Given the description of an element on the screen output the (x, y) to click on. 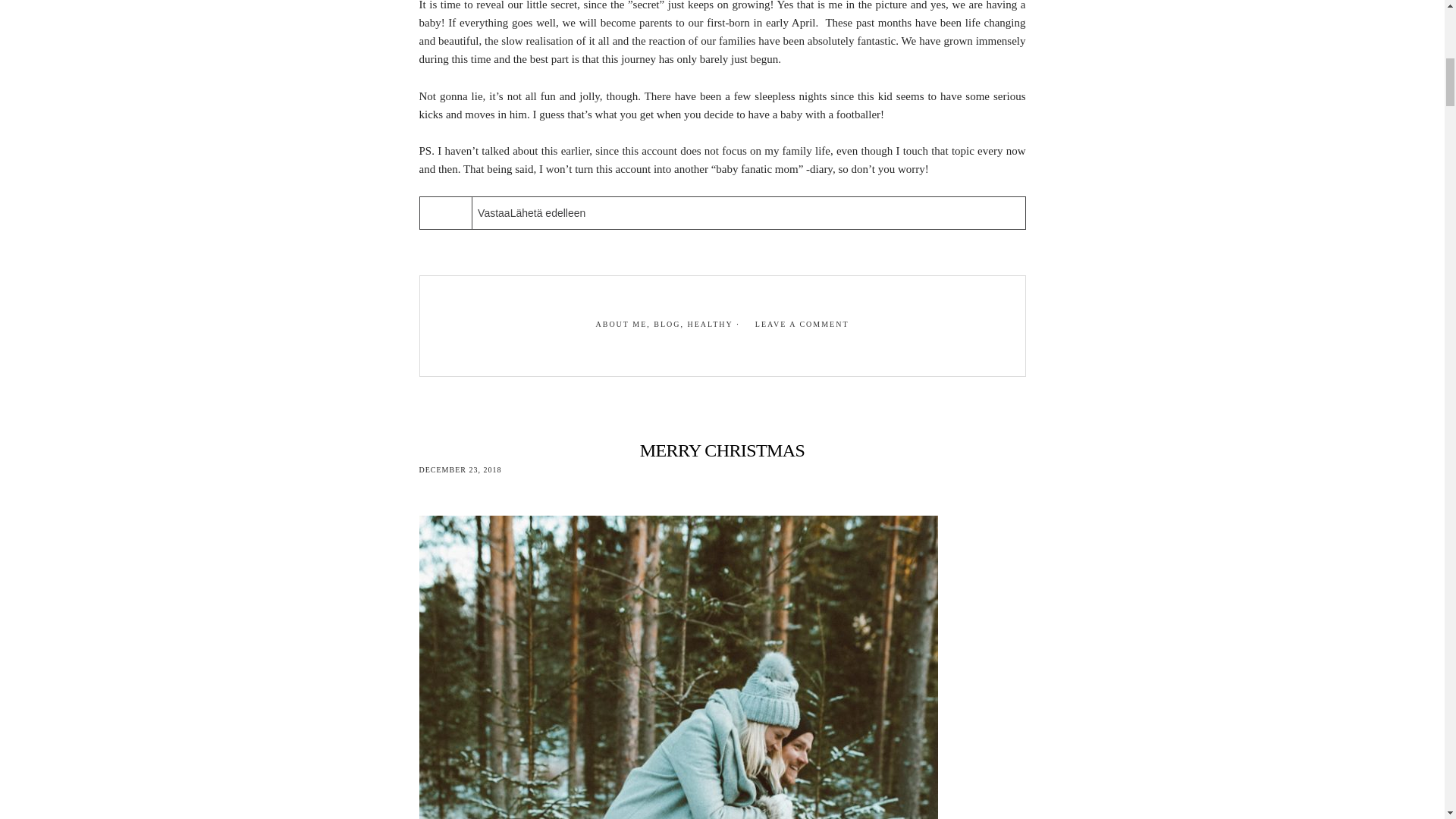
BLOG (666, 324)
MERRY CHRISTMAS (722, 450)
HEALTHY (709, 324)
LEAVE A COMMENT (801, 324)
ABOUT ME (620, 324)
